Given the description of an element on the screen output the (x, y) to click on. 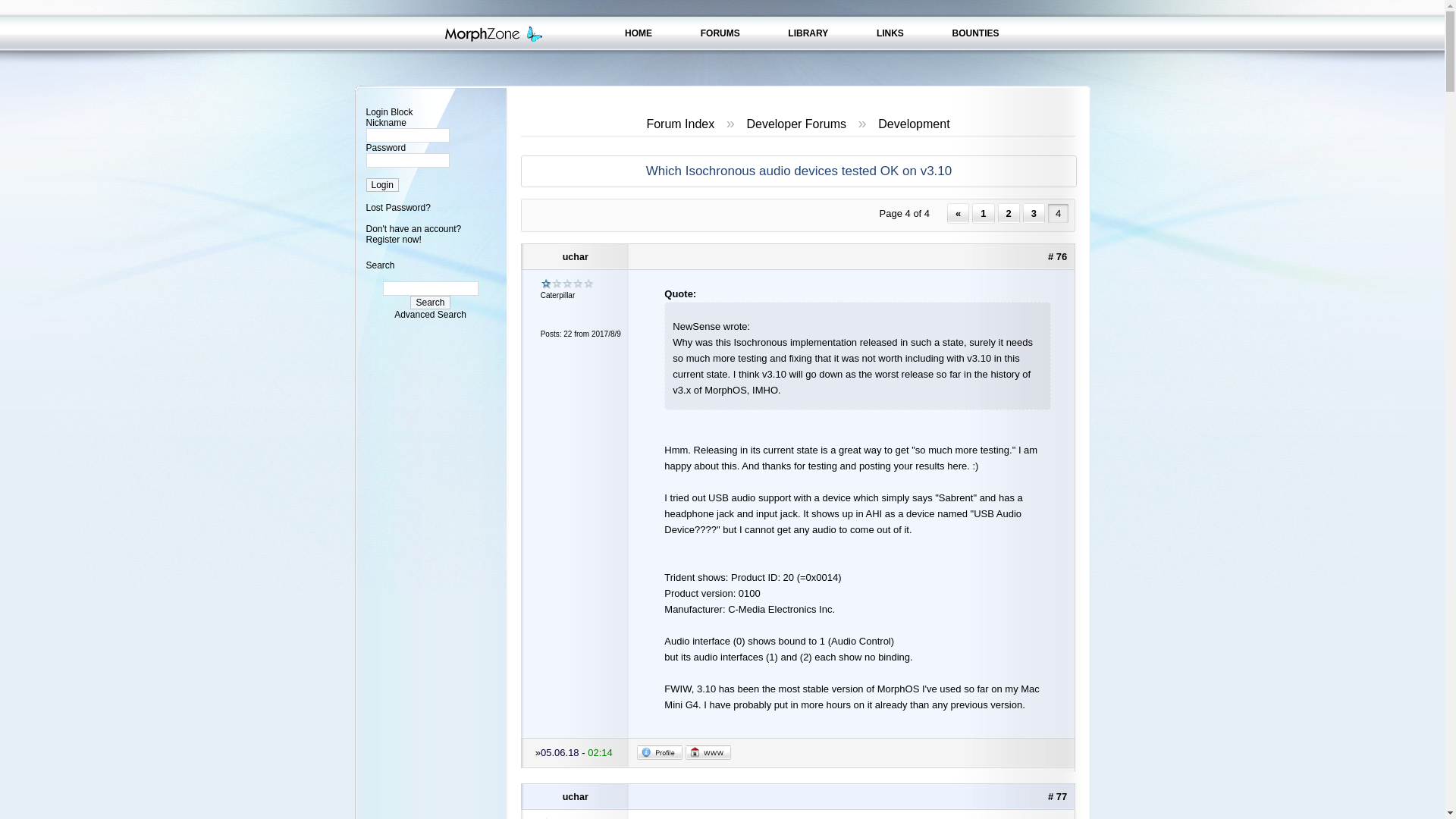
HOME (638, 32)
1 (983, 213)
Login (381, 184)
uchar (575, 257)
uchar (575, 796)
FORUMS (719, 32)
3 (1034, 213)
LINKS (890, 32)
Caterpillar (567, 283)
Register now! (392, 239)
